Given the description of an element on the screen output the (x, y) to click on. 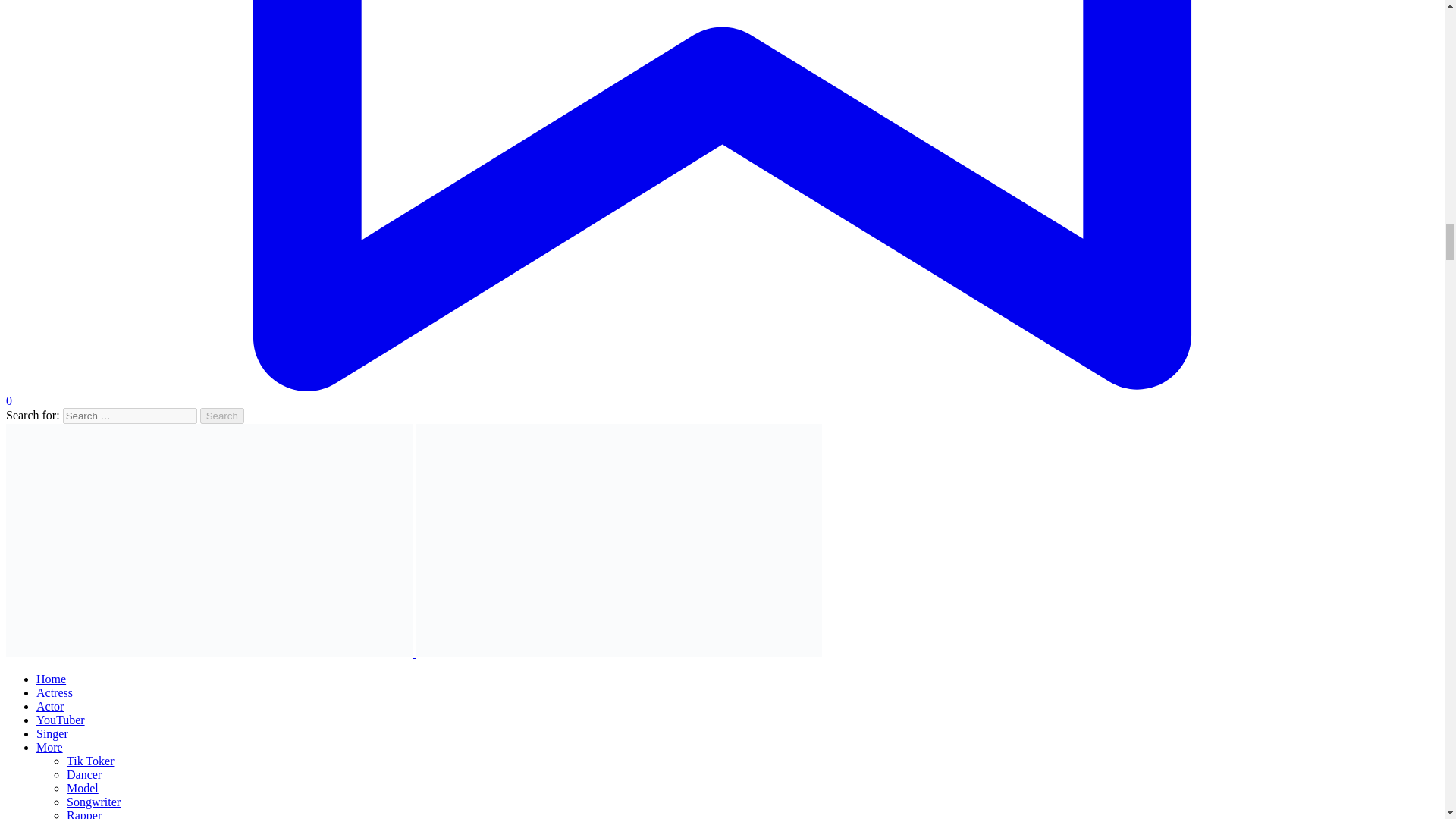
Search (222, 415)
Famed Faces (618, 653)
Search (222, 415)
Home (50, 678)
Search (222, 415)
Famed Faces (209, 653)
Actress (54, 692)
